Given the description of an element on the screen output the (x, y) to click on. 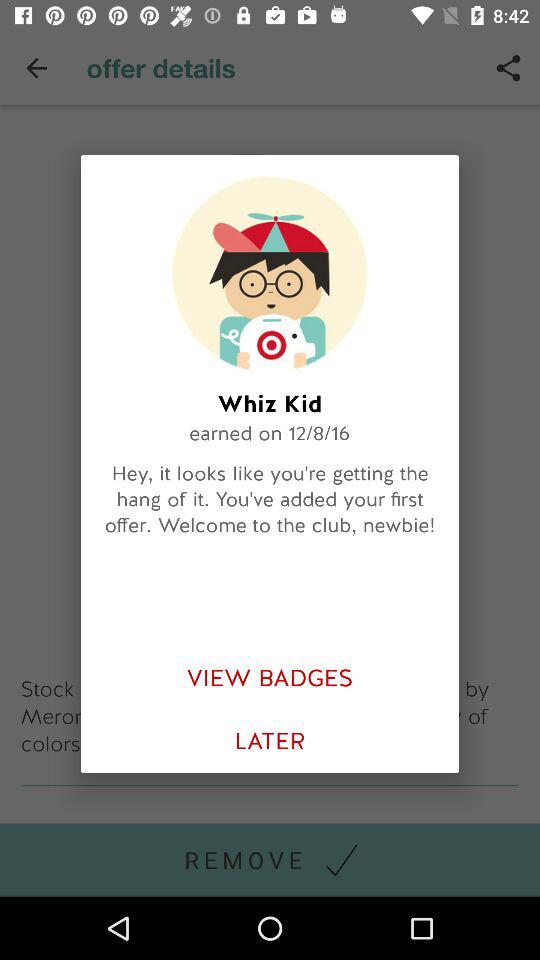
open later icon (270, 741)
